Given the description of an element on the screen output the (x, y) to click on. 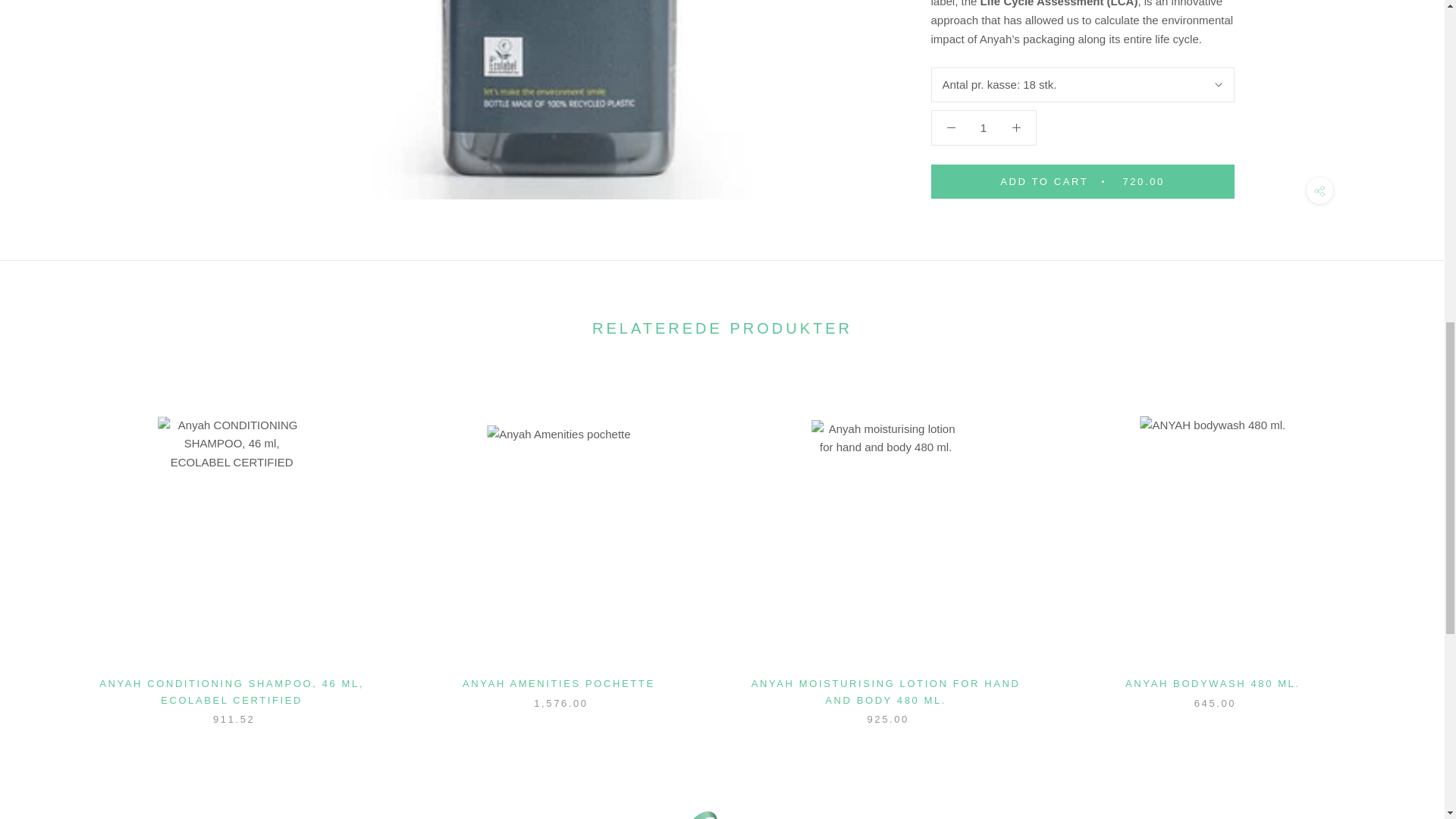
1 (984, 94)
